Given the description of an element on the screen output the (x, y) to click on. 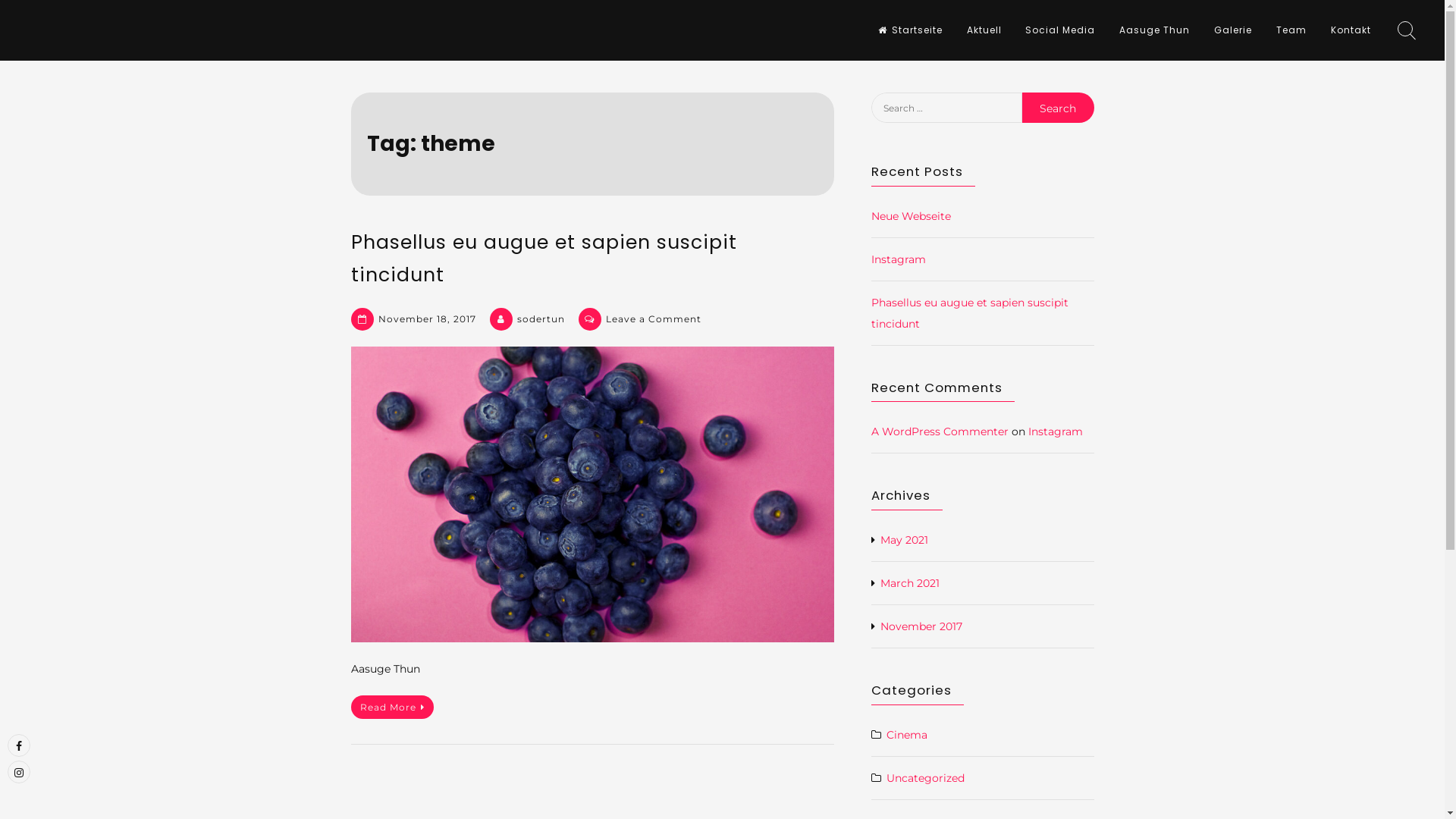
Instagram Element type: text (18, 771)
Instagram Element type: text (897, 259)
A WordPress Commenter Element type: text (938, 431)
March 2021 Element type: text (908, 582)
Social Media Element type: text (1060, 29)
Phasellus eu augue et sapien suscipit tincidunt Element type: text (968, 312)
Aasuge Thun Element type: text (1154, 29)
May 2021 Element type: text (903, 539)
Search Element type: text (1057, 107)
Facebook Element type: text (18, 745)
Phasellus eu augue et sapien suscipit tincidunt Element type: hover (591, 494)
Startseite Element type: text (910, 29)
Search Element type: text (28, 10)
Aktuell Element type: text (983, 29)
Team Element type: text (1291, 29)
sodertun Element type: text (540, 318)
Uncategorized Element type: text (924, 777)
Galerie Element type: text (1233, 29)
Instagram Element type: text (1055, 431)
Phasellus eu augue et sapien suscipit tincidunt Element type: text (543, 258)
Read More Element type: text (391, 706)
Kontakt Element type: text (1350, 29)
November 2017 Element type: text (920, 626)
Neue Webseite Element type: text (910, 215)
Cinema Element type: text (905, 734)
November 18, 2017 Element type: text (426, 318)
